Given the description of an element on the screen output the (x, y) to click on. 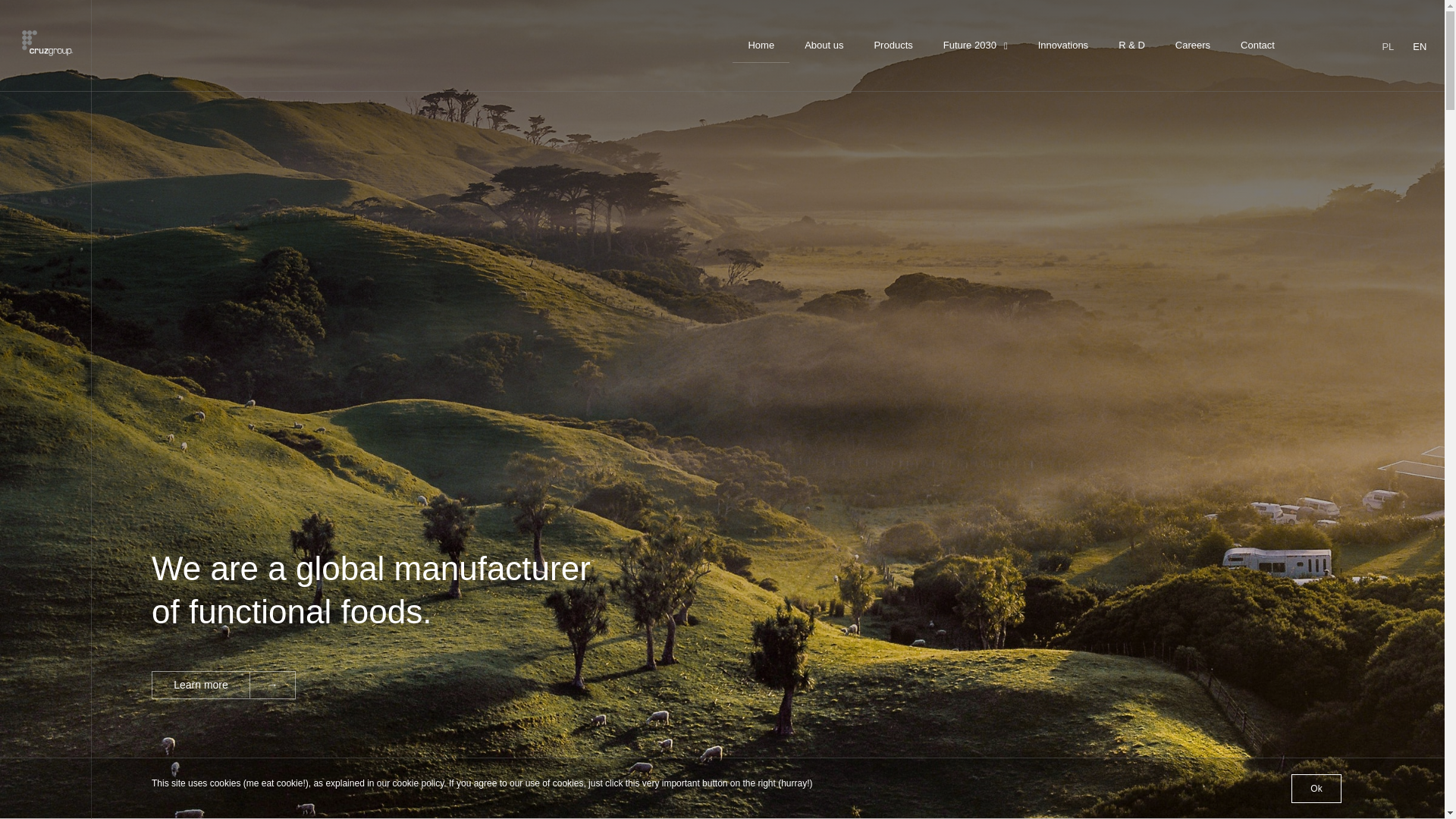
Careers (1192, 45)
Products (893, 45)
Future 2030 (975, 45)
Contact (1257, 45)
Home (760, 45)
About us (824, 45)
Innovations (1063, 45)
